Given the description of an element on the screen output the (x, y) to click on. 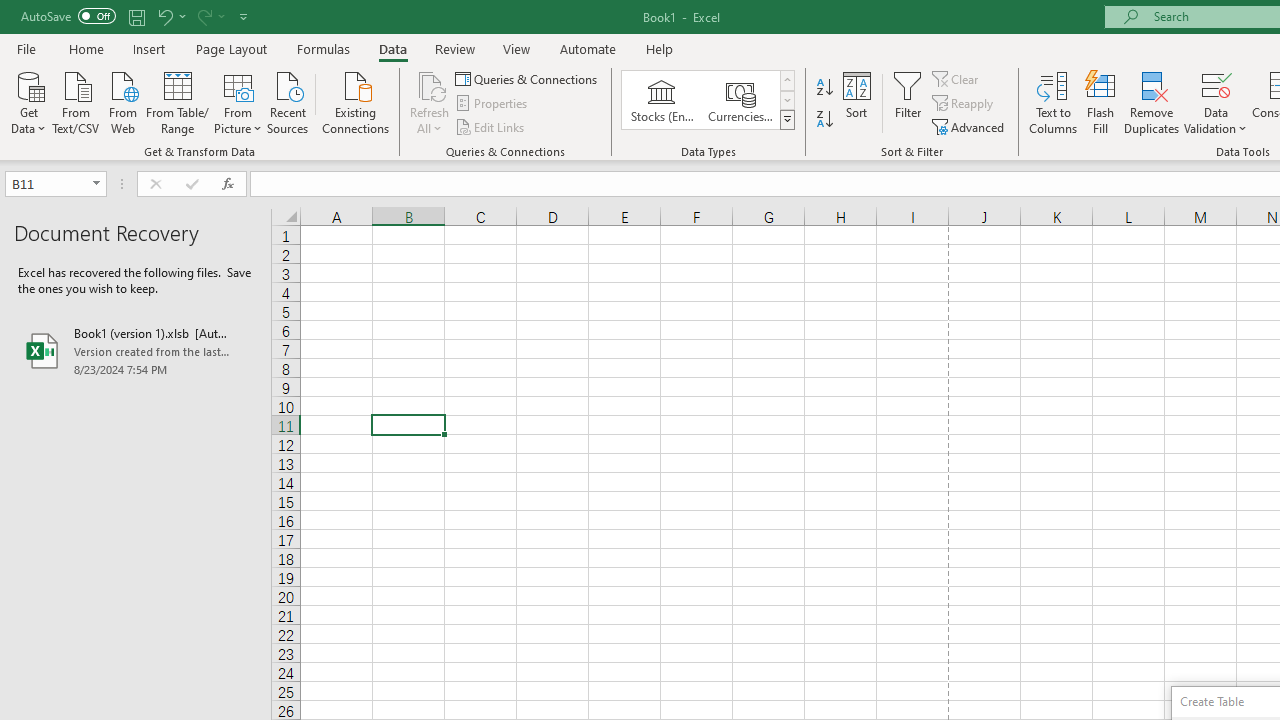
AutoSave (68, 16)
Edit Links (491, 126)
From Table/Range (177, 101)
View (517, 48)
Help (660, 48)
Data Types (786, 120)
Home (86, 48)
System (10, 11)
From Text/CSV (75, 101)
Insert (149, 48)
Redo (203, 15)
Open (96, 183)
